Given the description of an element on the screen output the (x, y) to click on. 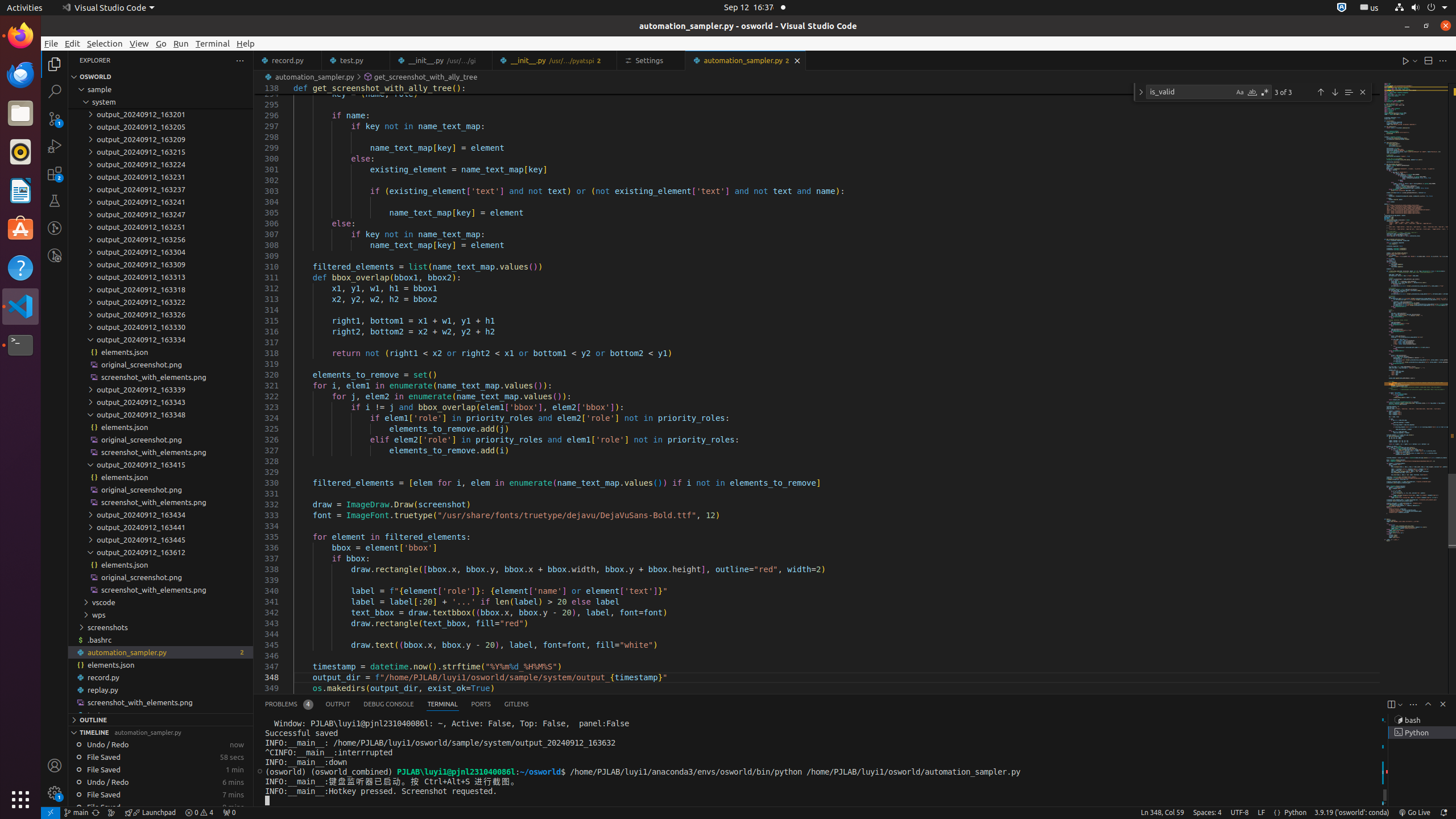
output_20240912_163339 Element type: tree-item (160, 389)
output_20240912_163241 Element type: tree-item (160, 201)
8 minutes: File Saved Element type: tree-item (160, 806)
Edit Element type: push-button (72, 43)
OSWorld (Git) - main, Checkout Branch/Tag... Element type: push-button (75, 812)
